Given the description of an element on the screen output the (x, y) to click on. 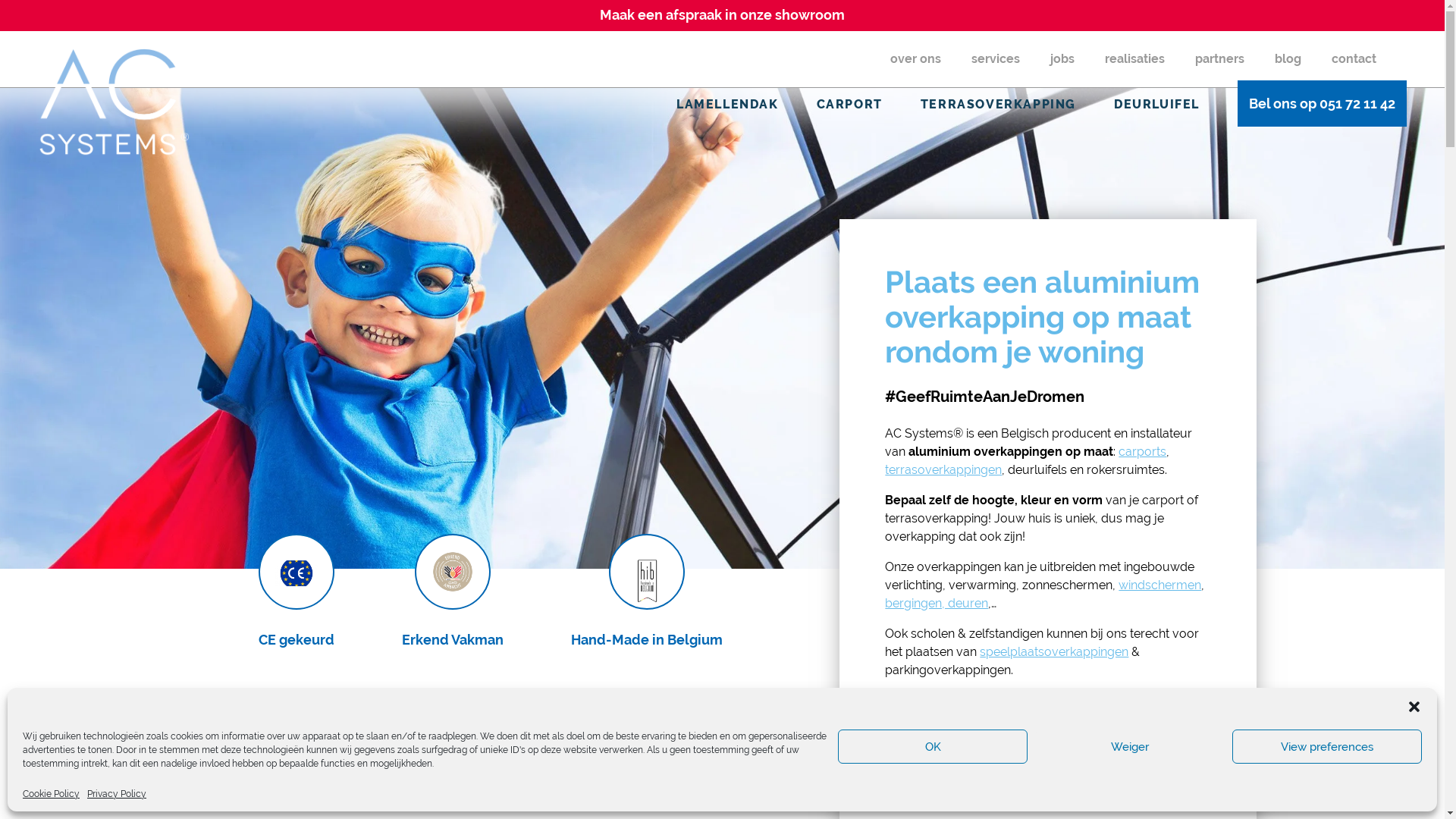
Weiger Element type: text (1129, 746)
contact Element type: text (1353, 58)
windschermen Element type: text (1159, 584)
Onze realisaties > Element type: text (1134, 779)
lamellendaken Element type: text (1065, 700)
Cookie Policy Element type: text (50, 794)
carports Element type: text (1142, 451)
DEURLUIFEL Element type: text (1156, 104)
OK Element type: text (932, 746)
View preferences Element type: text (1326, 746)
over ons Element type: text (915, 58)
Offerte aanvragen > Element type: text (966, 779)
Hand-Made in Belgium Element type: text (645, 590)
bergingen, deuren Element type: text (936, 603)
speelplaatsoverkappingen Element type: text (1053, 651)
realisaties Element type: text (1134, 58)
jobs Element type: text (1062, 58)
TERRASOVERKAPPING Element type: text (998, 104)
terrasoverkappingen Element type: text (942, 469)
Erkend Vakman Element type: text (452, 590)
CARPORT Element type: text (849, 104)
blog Element type: text (1287, 58)
Privacy Policy Element type: text (116, 794)
Maak een afspraak in onze showroom Element type: text (721, 14)
CE gekeurd Element type: text (295, 590)
LAMELLENDAK Element type: text (727, 104)
partners Element type: text (1219, 58)
services Element type: text (995, 58)
Bel ons op 051 72 11 42 Element type: text (1321, 103)
